Given the description of an element on the screen output the (x, y) to click on. 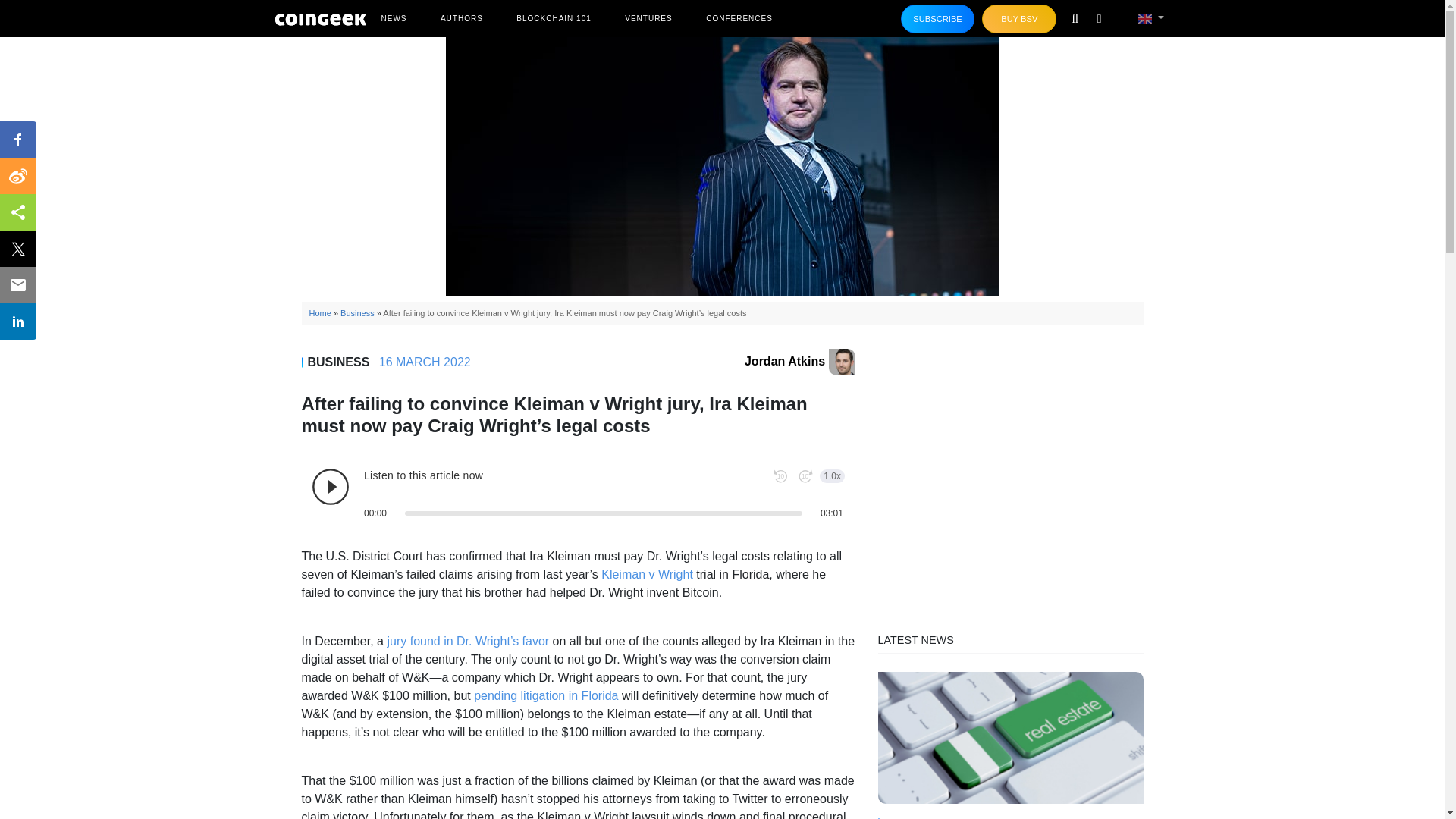
BUY BSV (1019, 18)
NEWS (392, 18)
VENTURES (648, 18)
Jordan Atkins (800, 360)
BLOCKCHAIN 101 (553, 18)
AUTHORS (461, 18)
Never miss an update again! Subscribe to Newsletter! (938, 18)
Kleiman v Wright (647, 574)
SUBSCRIBE (938, 18)
Trinity Audio Player (577, 493)
